Given the description of an element on the screen output the (x, y) to click on. 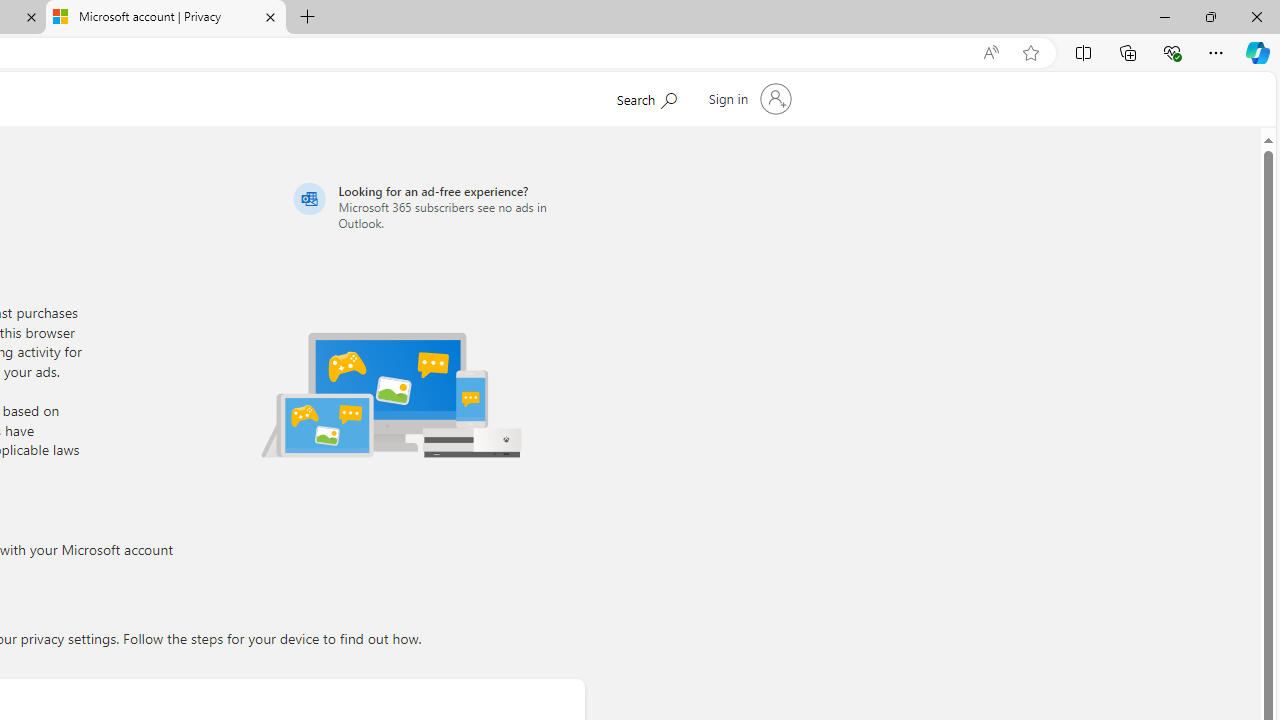
Browser essentials (1171, 52)
Restore (1210, 16)
